Given the description of an element on the screen output the (x, y) to click on. 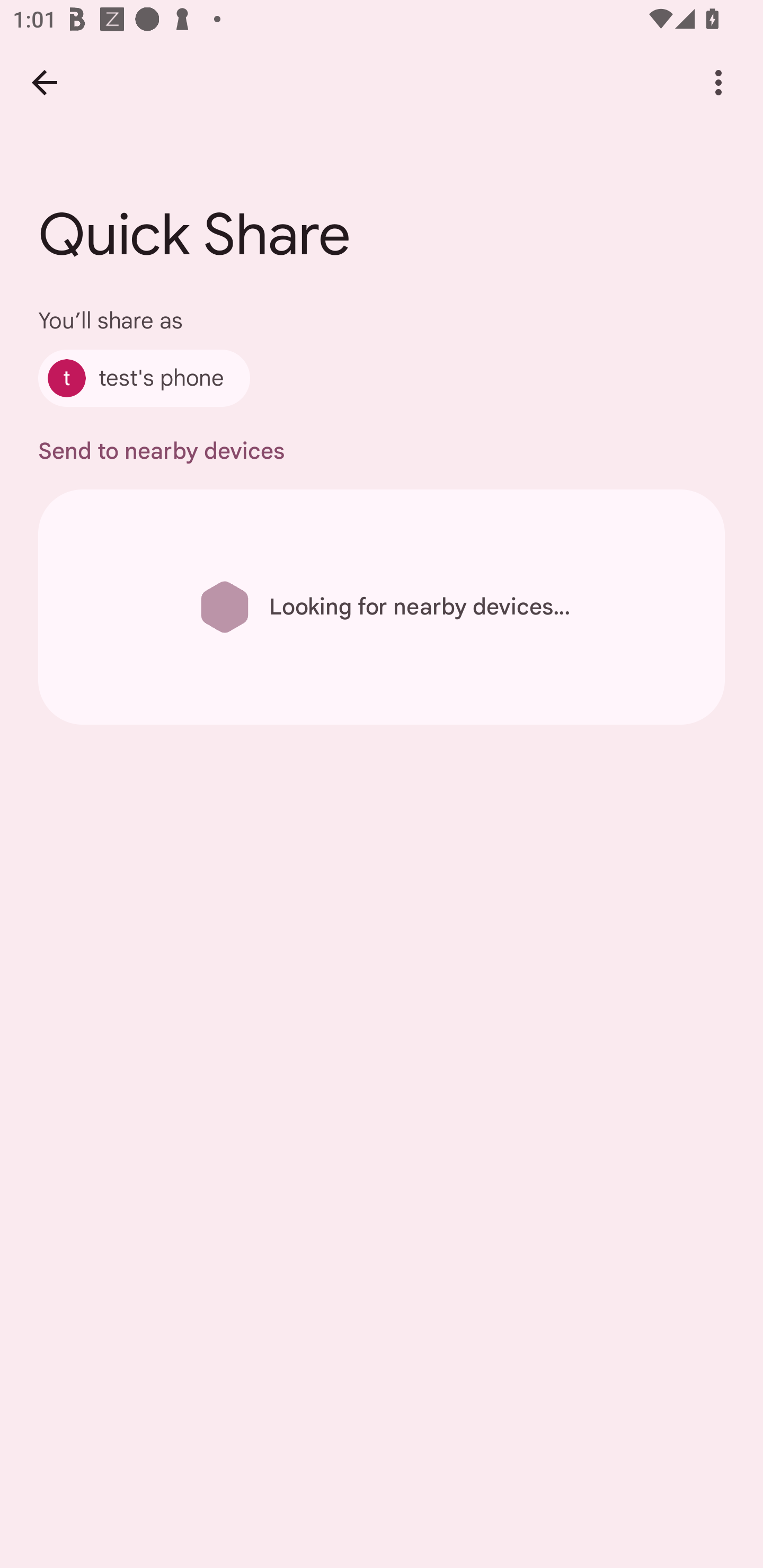
Back (44, 81)
More (718, 81)
test's phone (144, 378)
